Given the description of an element on the screen output the (x, y) to click on. 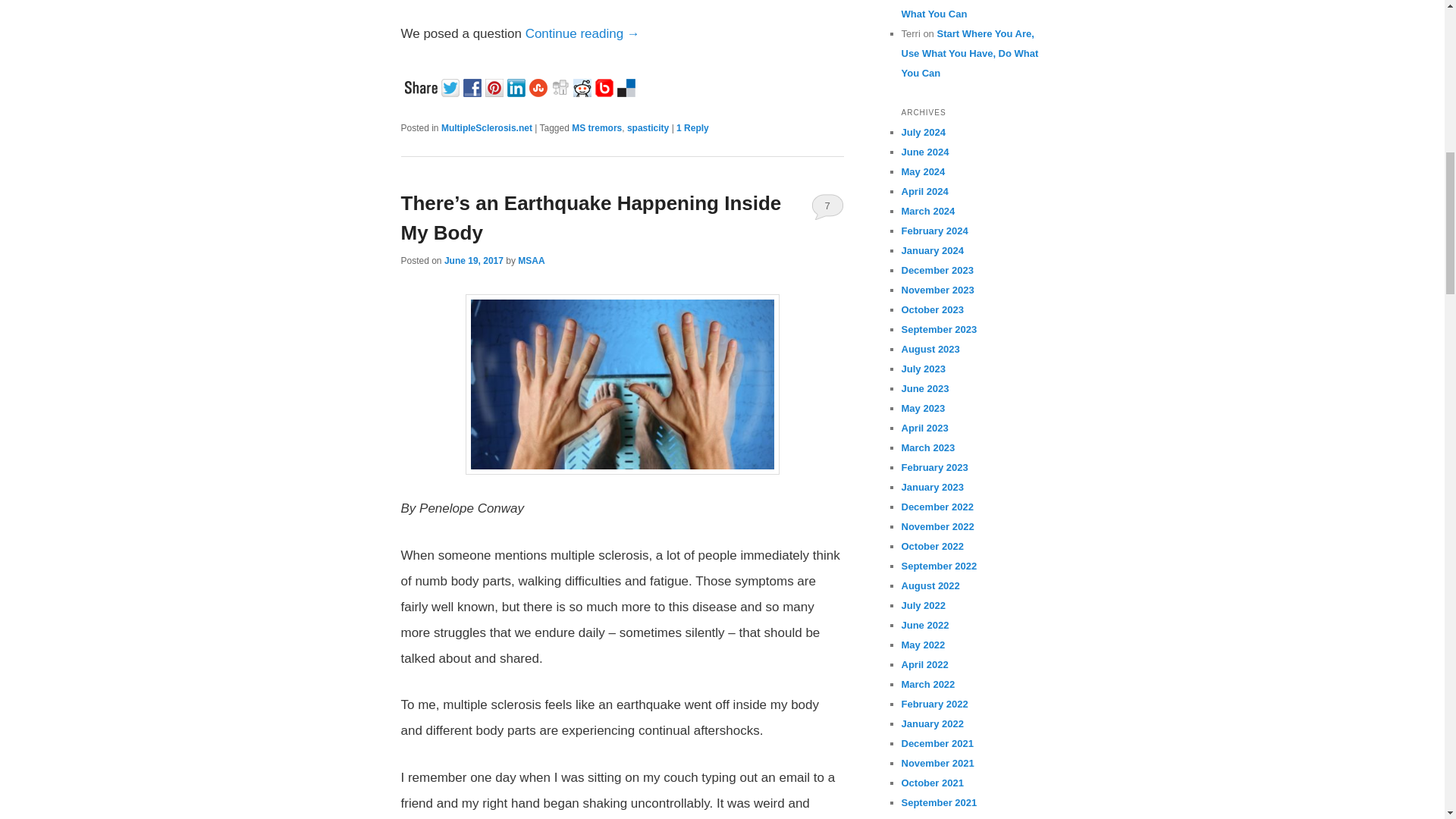
Bebo (604, 86)
Twitter (452, 86)
MSAA (531, 260)
Delicious (628, 86)
StumbleUpon (540, 86)
View all posts by MSAA (531, 260)
9:00 am (473, 260)
MS tremors (596, 127)
Digg (561, 86)
7 (827, 206)
Reddit (584, 86)
spasticity (647, 127)
MultipleSclerosis.net (486, 127)
Pinterest (495, 86)
Facebook (473, 86)
